Given the description of an element on the screen output the (x, y) to click on. 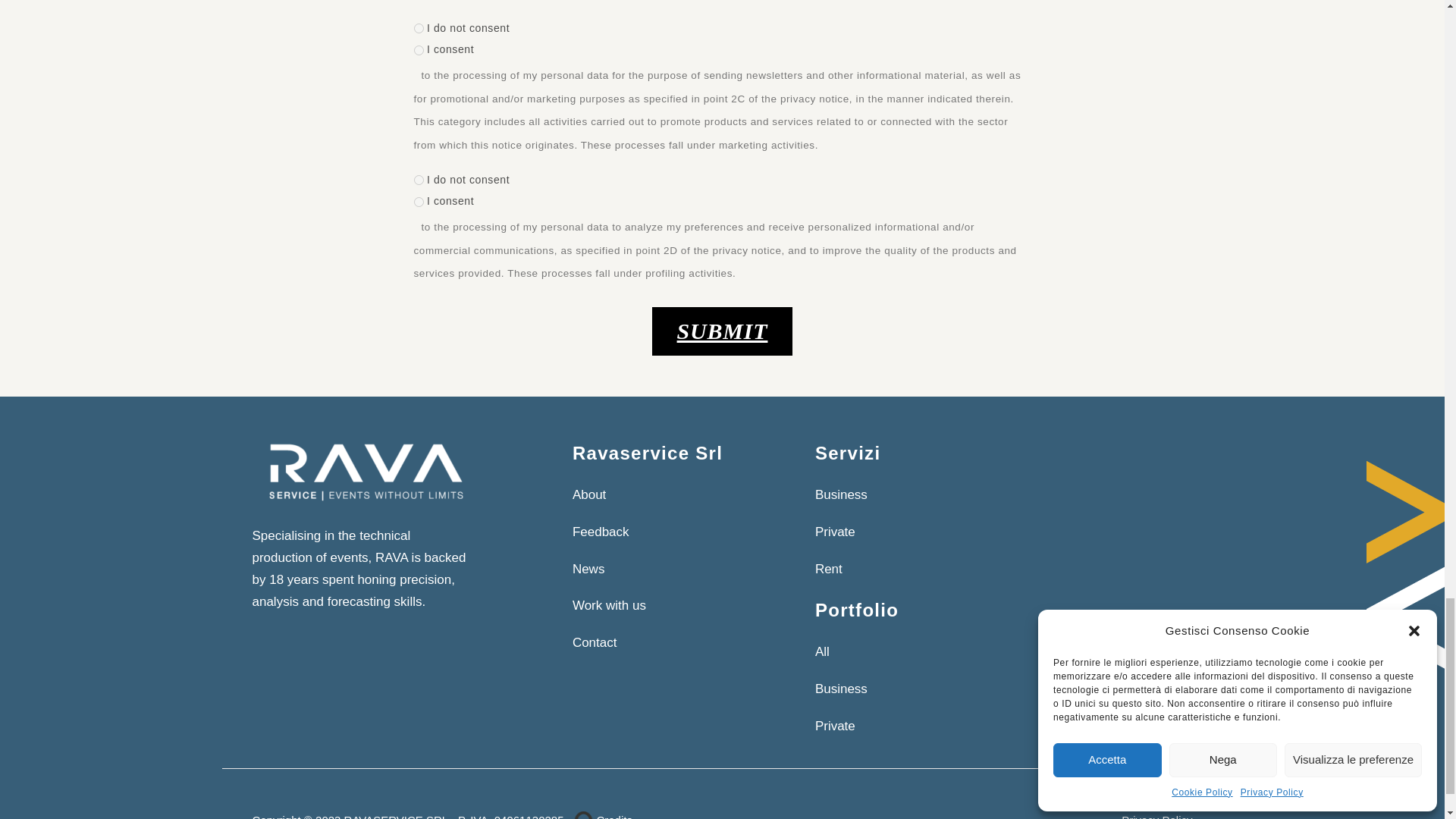
I do not consent (418, 180)
I consent (418, 202)
I consent (418, 50)
Submit (722, 331)
I do not consent (418, 28)
